Given the description of an element on the screen output the (x, y) to click on. 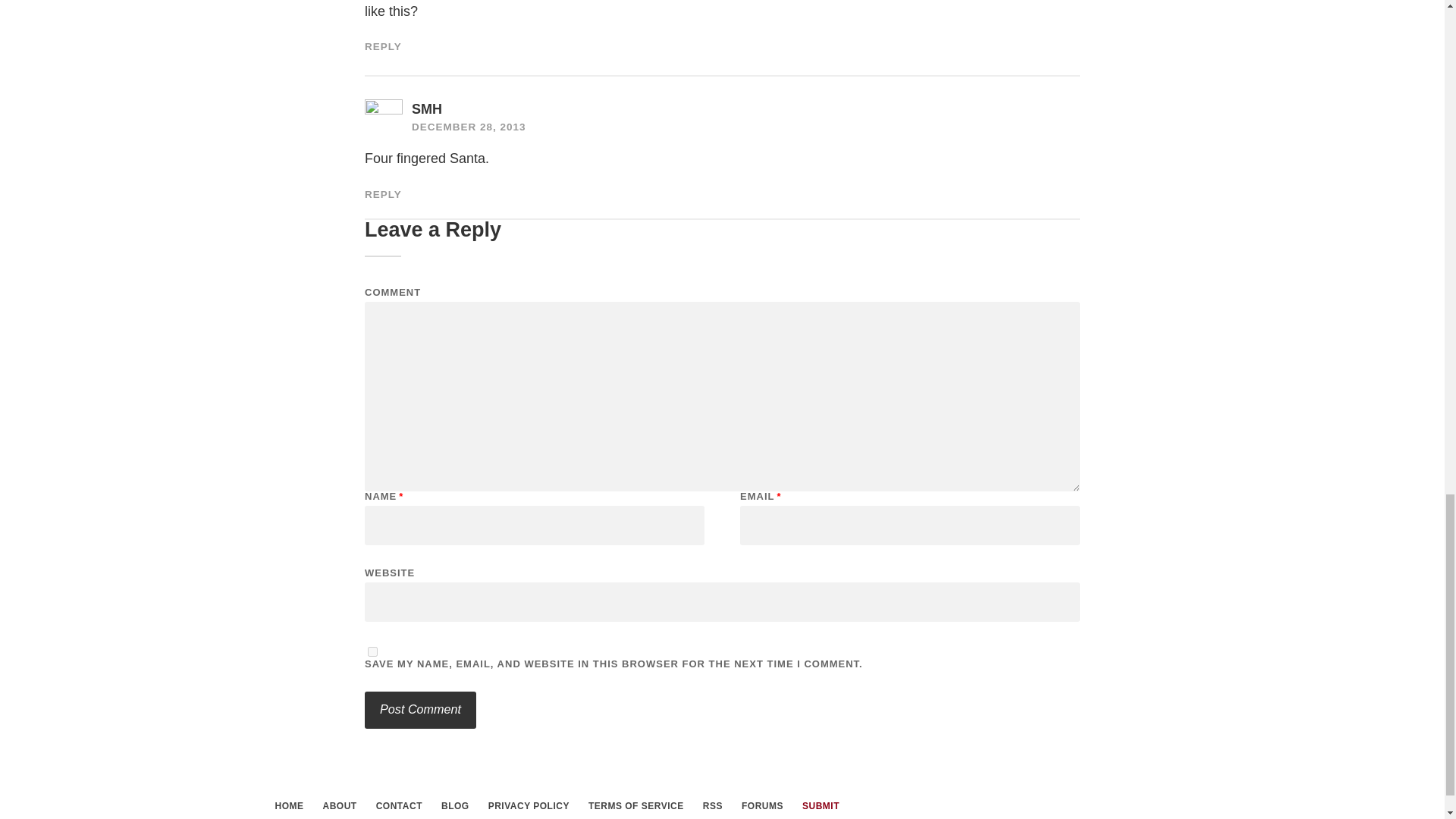
Post Comment (420, 709)
December 28, 2013 at 12:42 am (468, 126)
REPLY (383, 194)
DECEMBER 28, 2013 (468, 126)
Post Comment (420, 709)
REPLY (383, 46)
yes (372, 651)
